Given the description of an element on the screen output the (x, y) to click on. 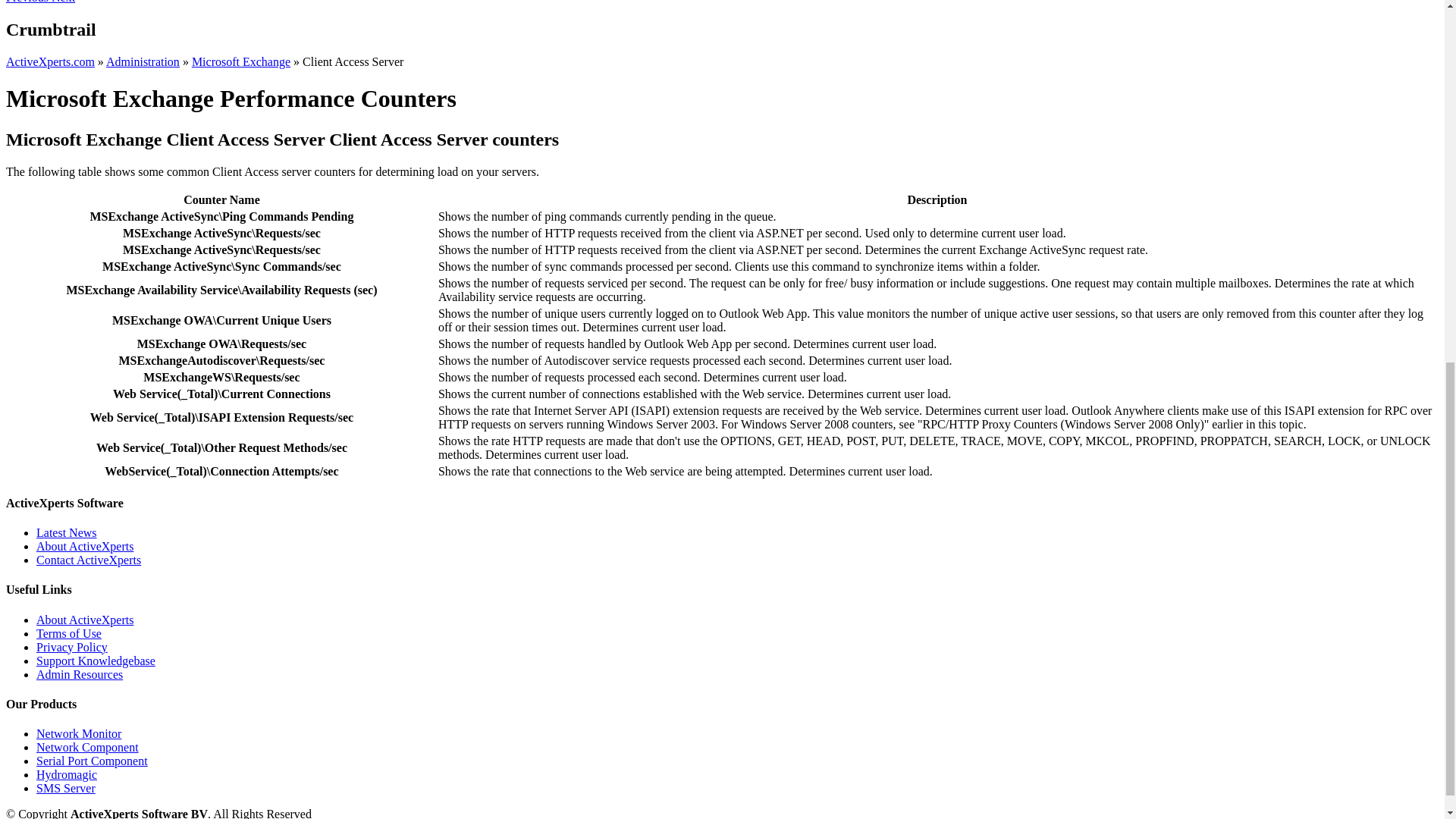
Previous (27, 2)
Latest News (66, 532)
Next (62, 2)
Microsoft Exchange (240, 61)
ActiveXperts.com (49, 61)
Administration (142, 61)
